Given the description of an element on the screen output the (x, y) to click on. 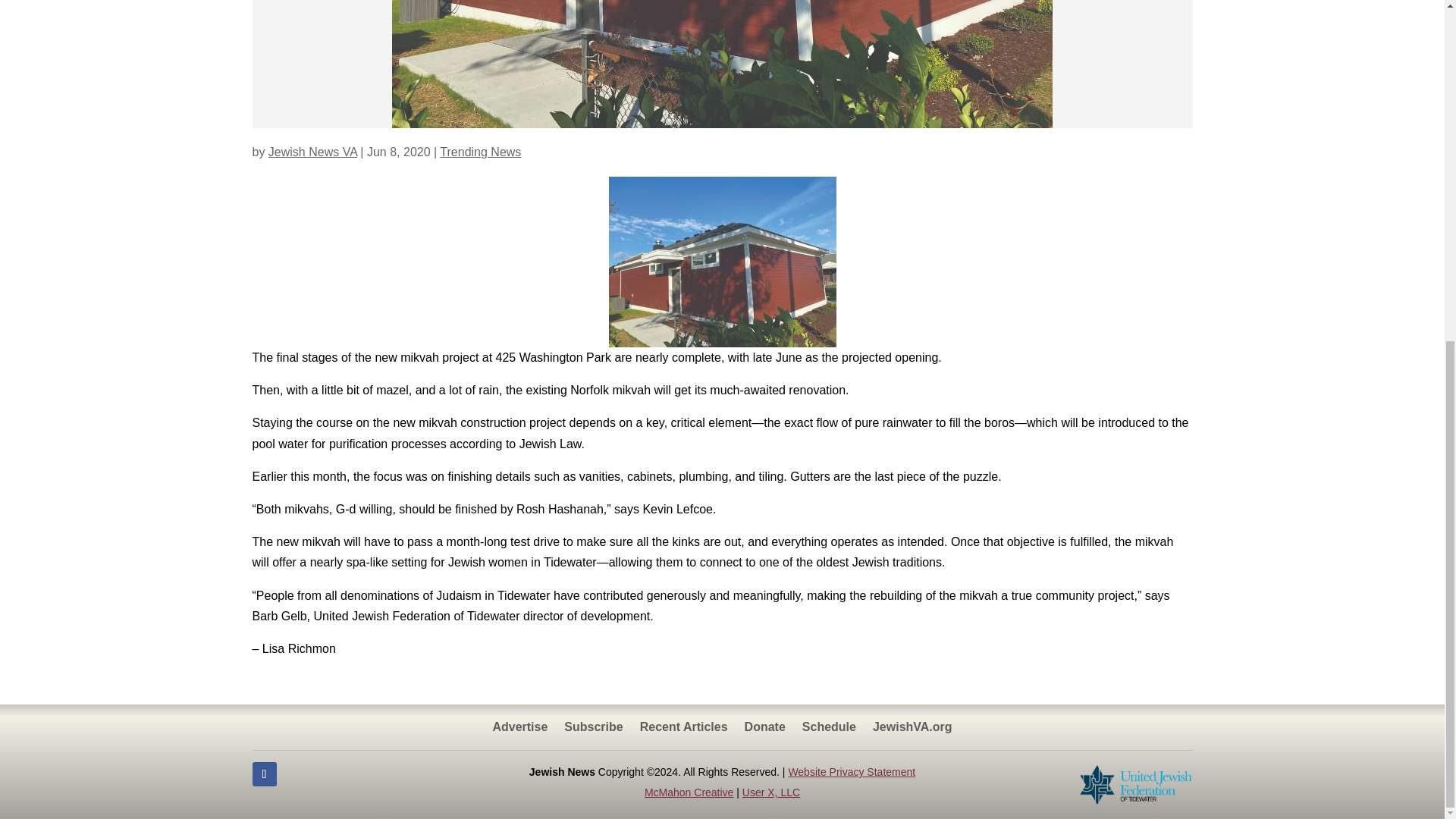
Follow on Facebook (263, 774)
Posts by Jewish News VA (311, 151)
